Given the description of an element on the screen output the (x, y) to click on. 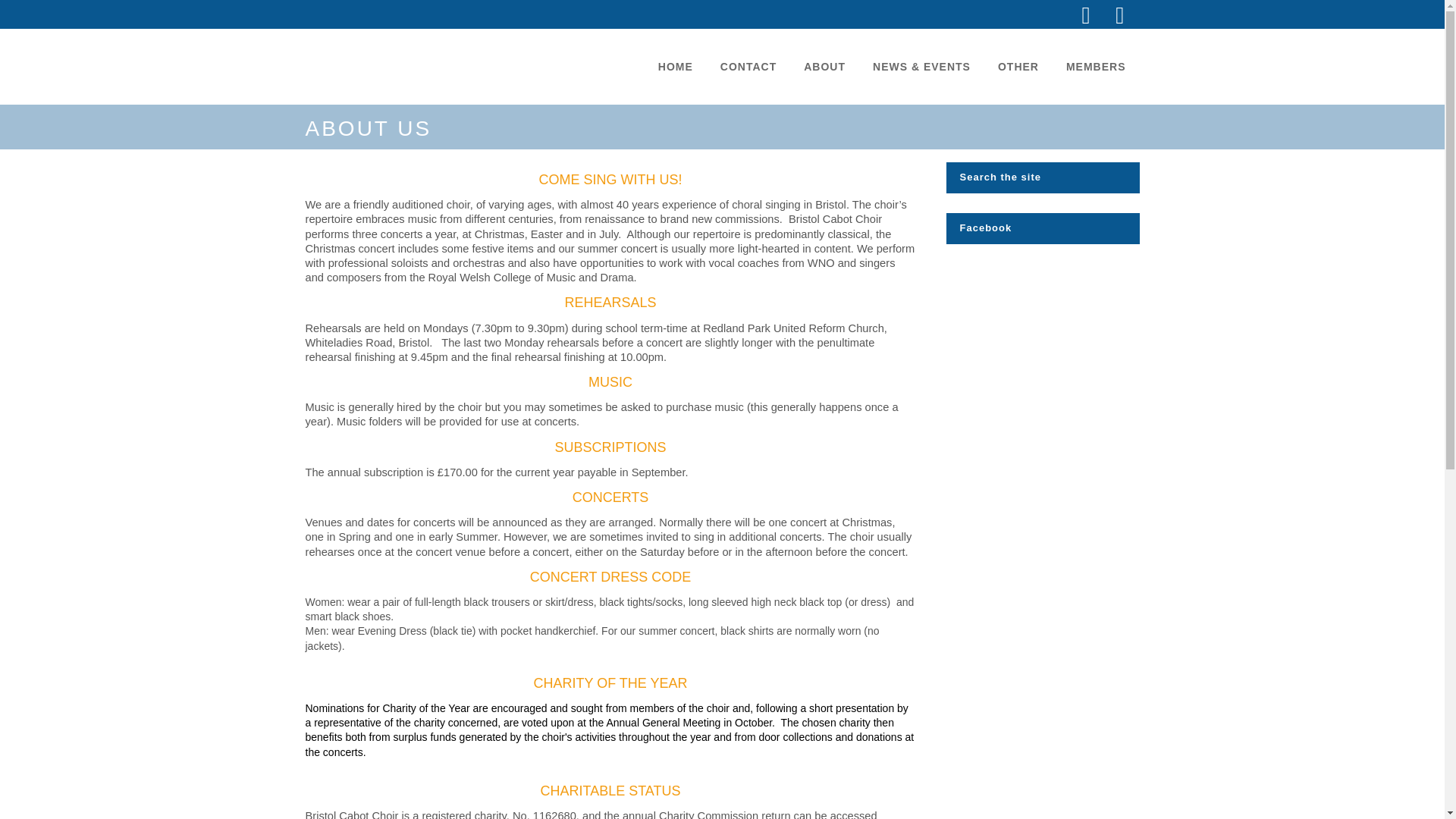
CONTACT (748, 66)
OTHER (1018, 66)
ABOUT (824, 66)
MEMBERS (1096, 66)
